Given the description of an element on the screen output the (x, y) to click on. 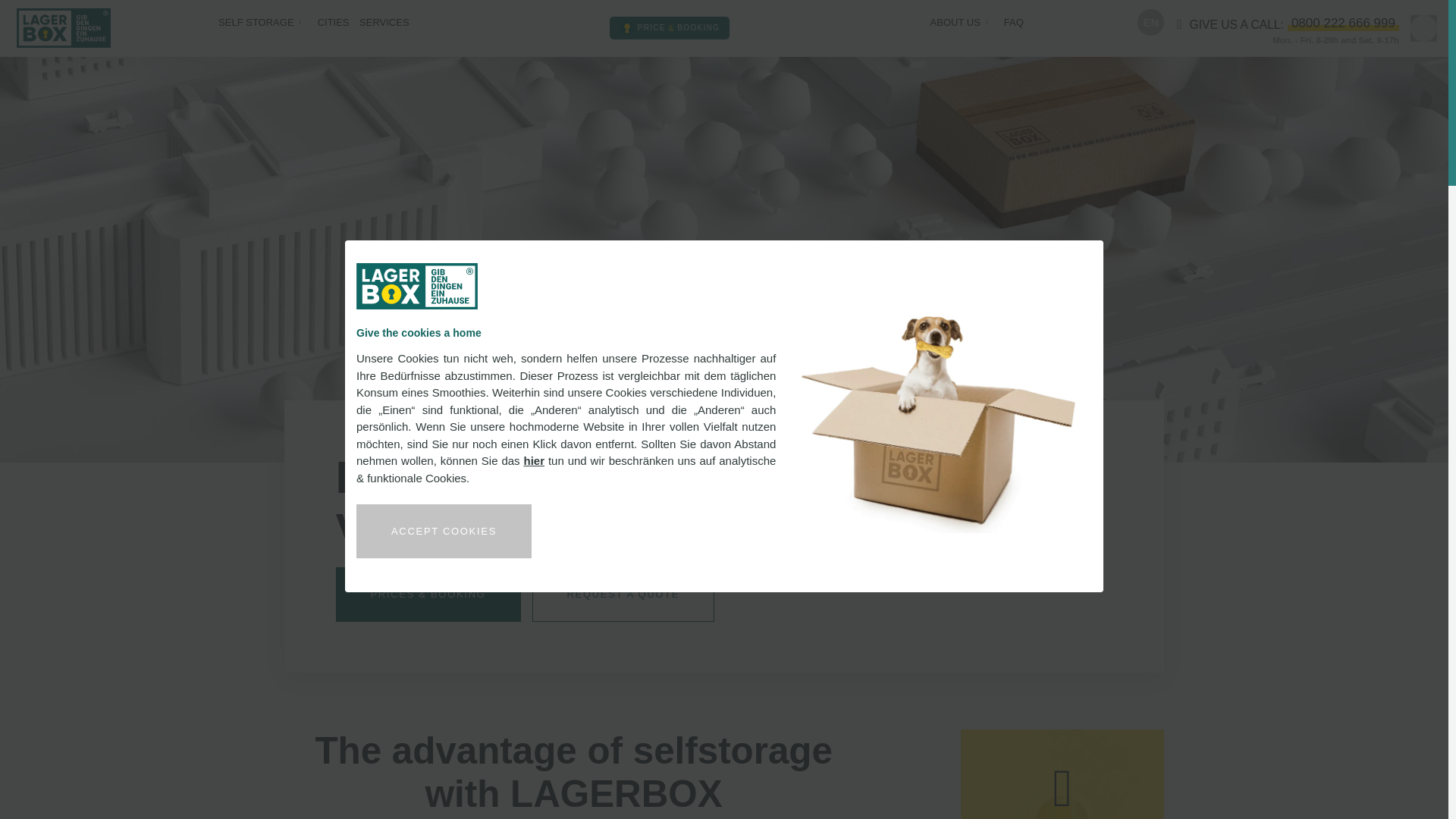
Logo (416, 285)
Open search (1423, 28)
ABOUT US (954, 22)
Services (384, 22)
REQUEST A QUOTE (623, 594)
Open language selection (1150, 22)
About us (954, 22)
Self storage (256, 22)
EN (1150, 22)
DE (1150, 26)
0800 222 666 999 (1343, 22)
LAGERBOX (63, 27)
SERVICES (384, 22)
SELF STORAGE (256, 22)
0800 222 666 999 (1343, 22)
